Given the description of an element on the screen output the (x, y) to click on. 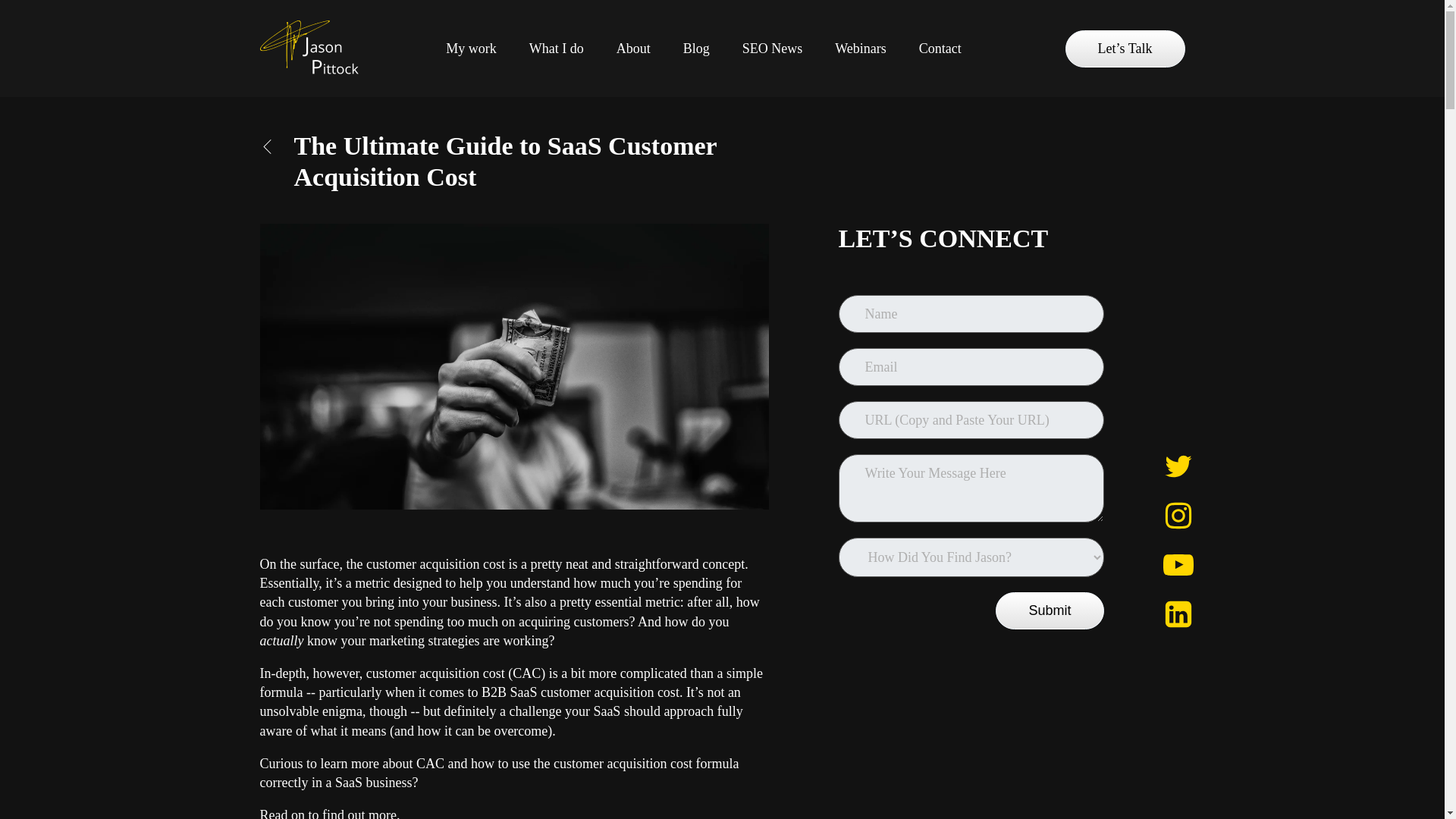
SEO News (772, 48)
About (633, 48)
Blog (696, 48)
Webinars (860, 48)
What I do (556, 48)
Submit (1049, 610)
Contact (940, 48)
My work (470, 48)
